Given the description of an element on the screen output the (x, y) to click on. 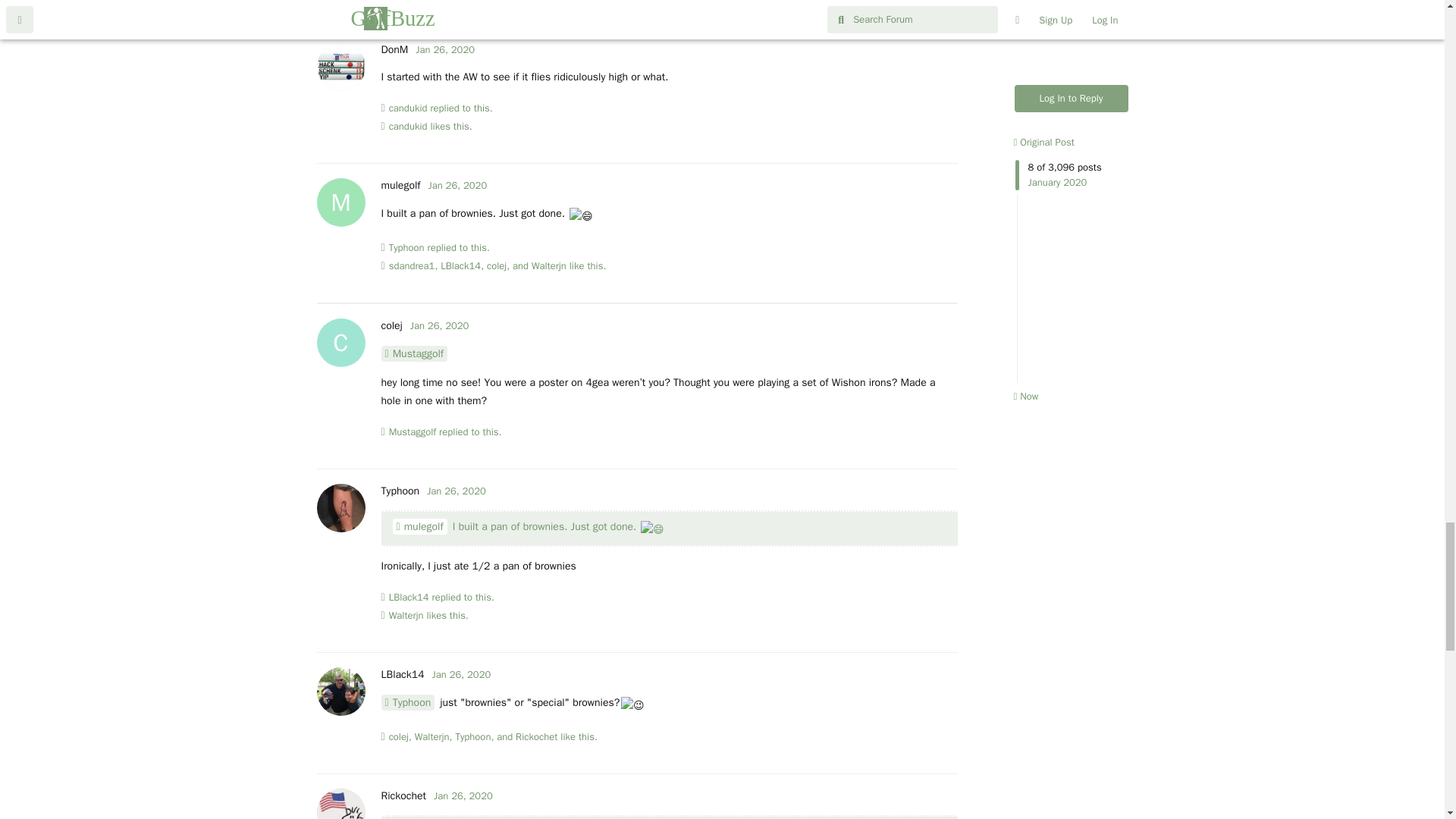
Sunday, January 26, 2020 2:28 AM (457, 185)
Sunday, January 26, 2020 2:13 AM (444, 49)
